Given the description of an element on the screen output the (x, y) to click on. 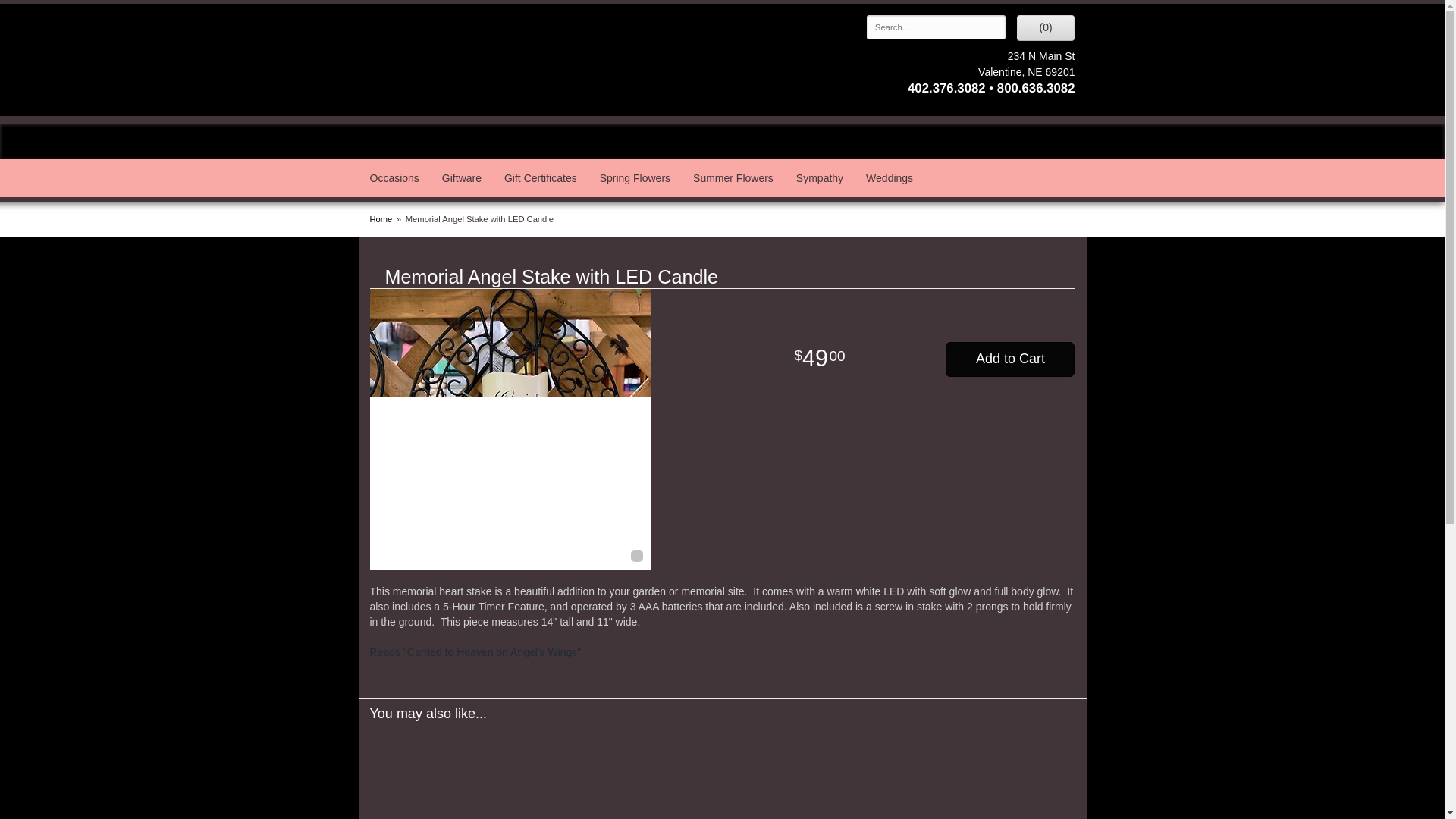
Gift Certificates (540, 177)
Flower Land (486, 57)
Weddings (889, 177)
Giftware (461, 177)
Summer Flowers (732, 177)
Sympathy (819, 177)
Occasions (393, 177)
Spring Flowers (634, 177)
